Given the description of an element on the screen output the (x, y) to click on. 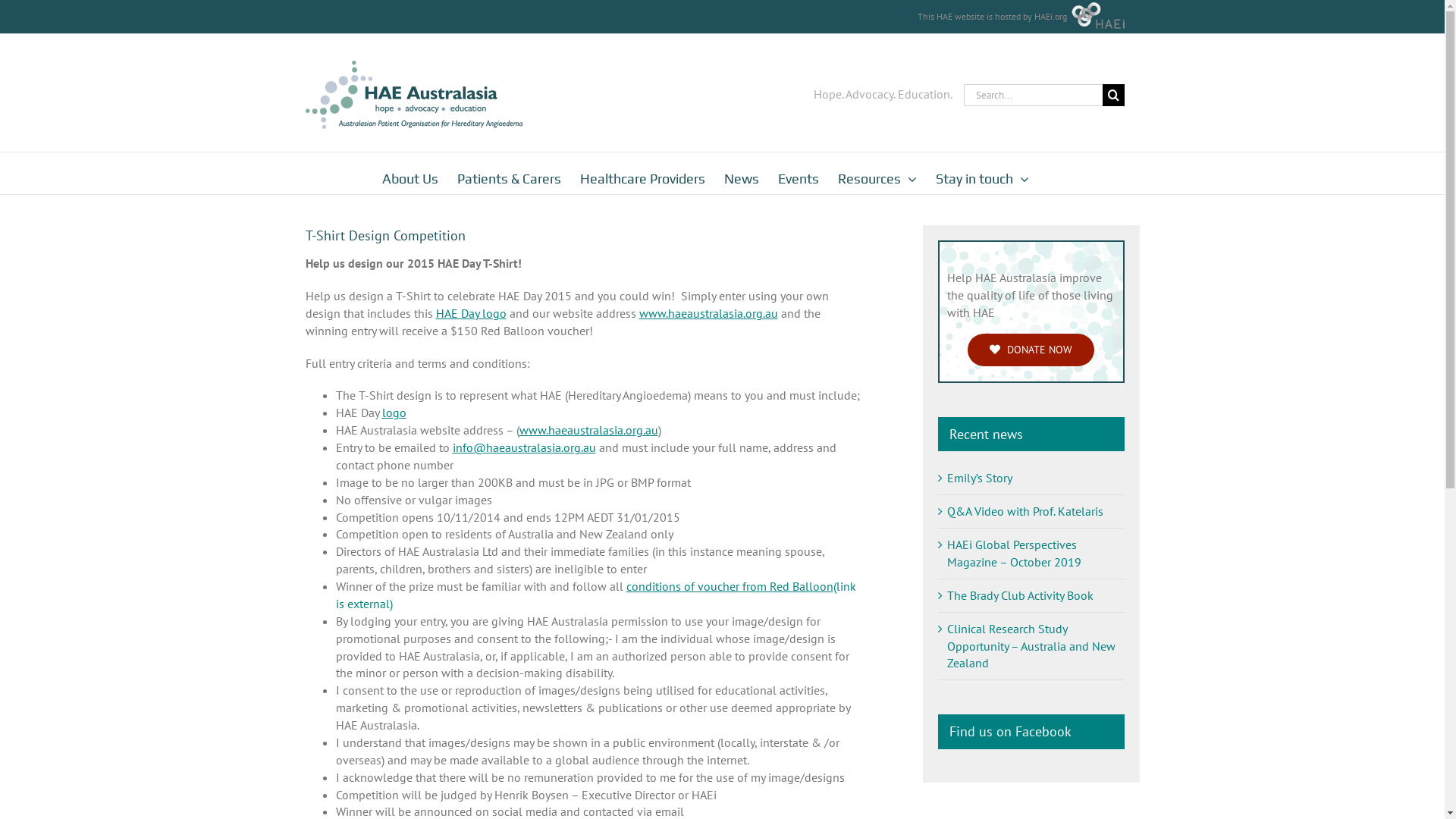
Stay in touch Element type: text (982, 173)
DONATE NOW Element type: text (1031, 349)
www.haeaustralasia.org.au Element type: text (707, 312)
Events Element type: text (798, 173)
Patients & Carers Element type: text (508, 173)
Q&A Video with Prof. Katelaris Element type: text (1024, 510)
Resources Element type: text (876, 173)
News Element type: text (740, 173)
About Us Element type: text (410, 173)
conditions of voucher from Red Balloon(link is external) Element type: text (595, 594)
www.haeaustralasia.org.au Element type: text (587, 429)
HAEi.org Element type: text (1050, 15)
logo Element type: text (394, 412)
info@haeaustralasia.org.au Element type: text (523, 447)
The Brady Club Activity Book Element type: text (1019, 594)
Healthcare Providers Element type: text (641, 173)
HAE Day logo Element type: text (470, 312)
